Given the description of an element on the screen output the (x, y) to click on. 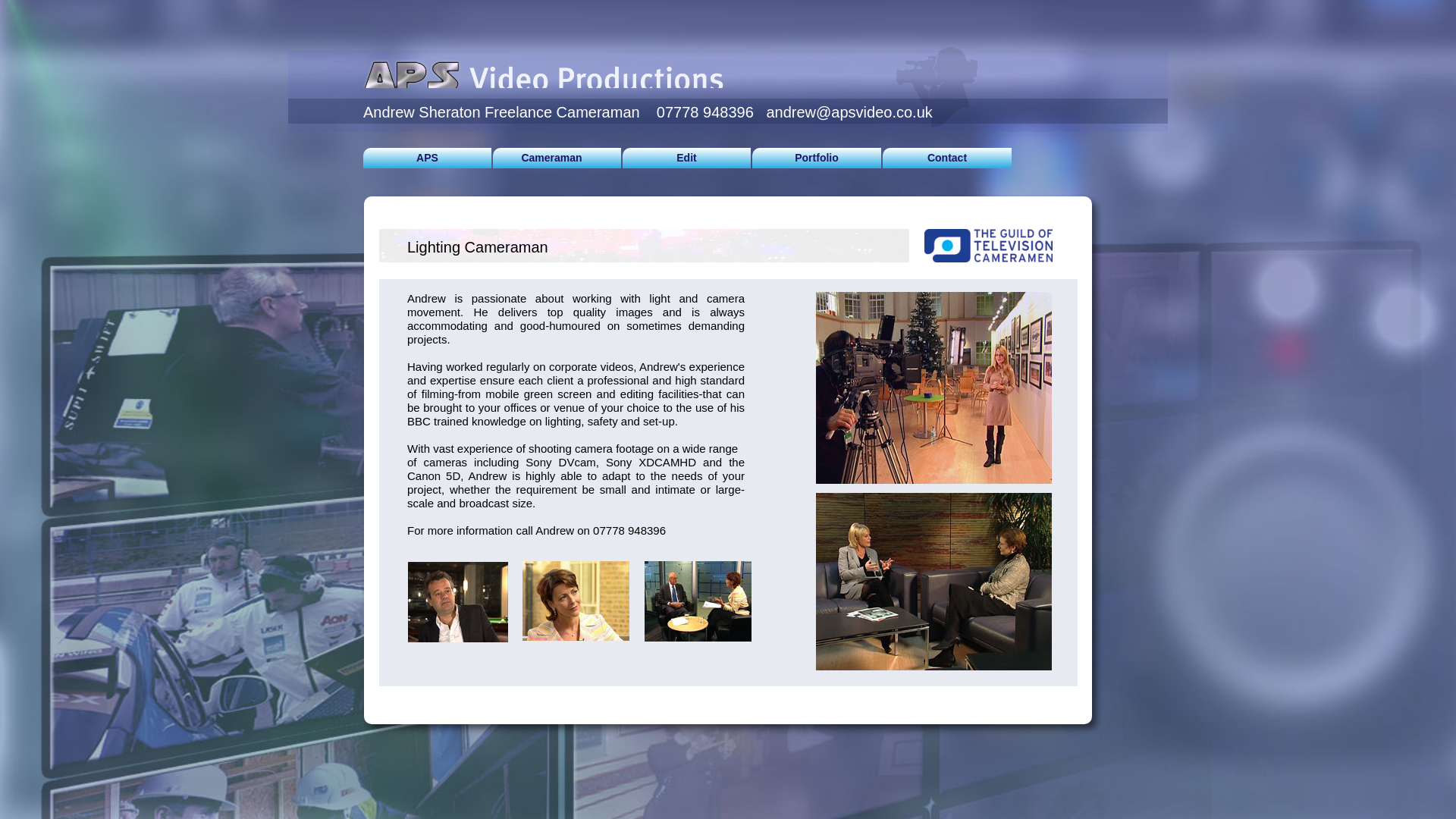
APS (427, 158)
Portfolio (816, 158)
Edit (687, 158)
Contact (946, 158)
Cameraman (557, 158)
